Given the description of an element on the screen output the (x, y) to click on. 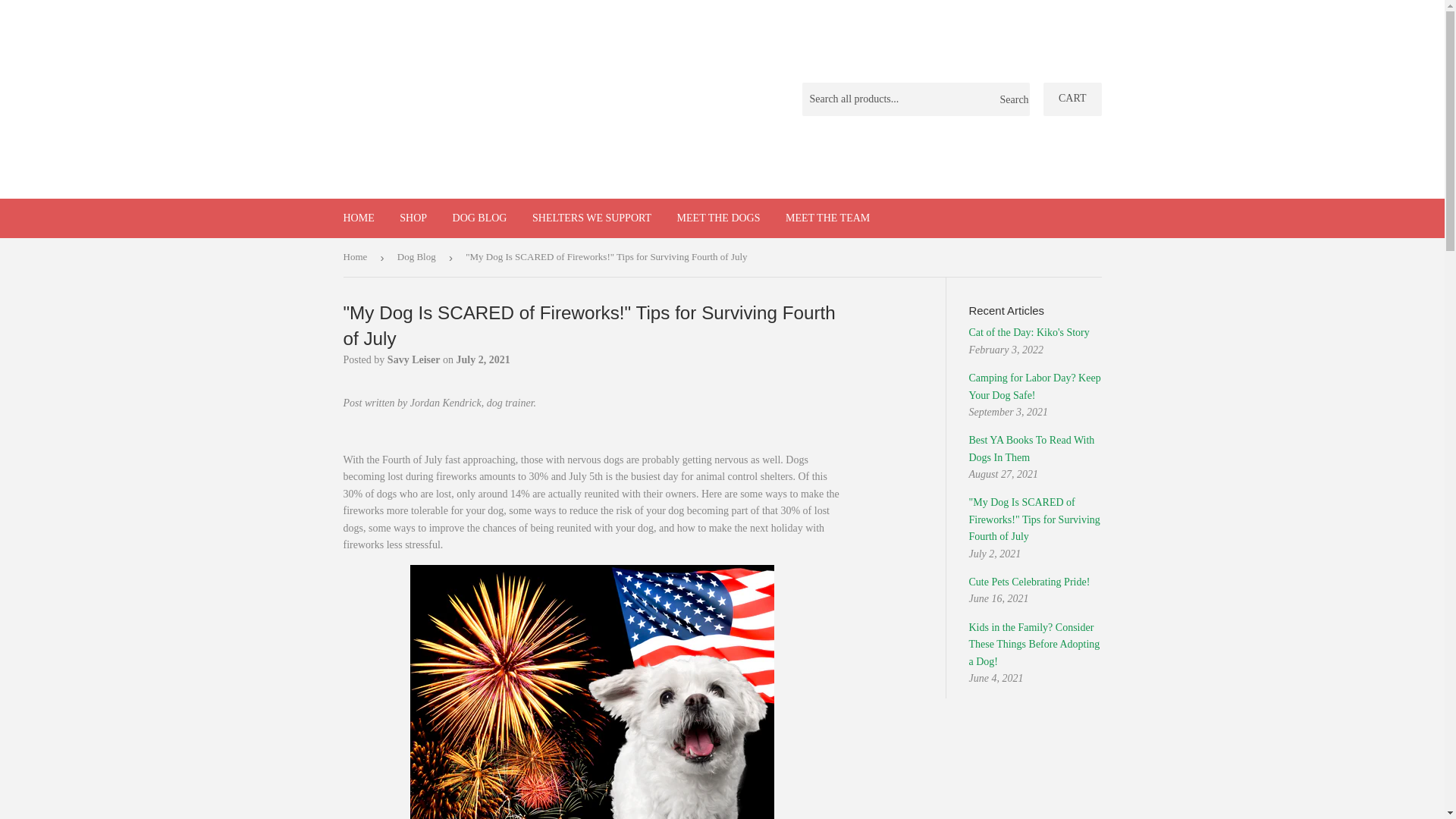
Best YA Books To Read With Dogs In Them (1031, 448)
DOG BLOG (479, 218)
HOME (358, 218)
Camping for Labor Day? Keep Your Dog Safe! (1034, 386)
SHOP (413, 218)
MEET THE TEAM (827, 218)
CART (1072, 99)
Cute Pets Celebrating Pride! (1029, 582)
